Given the description of an element on the screen output the (x, y) to click on. 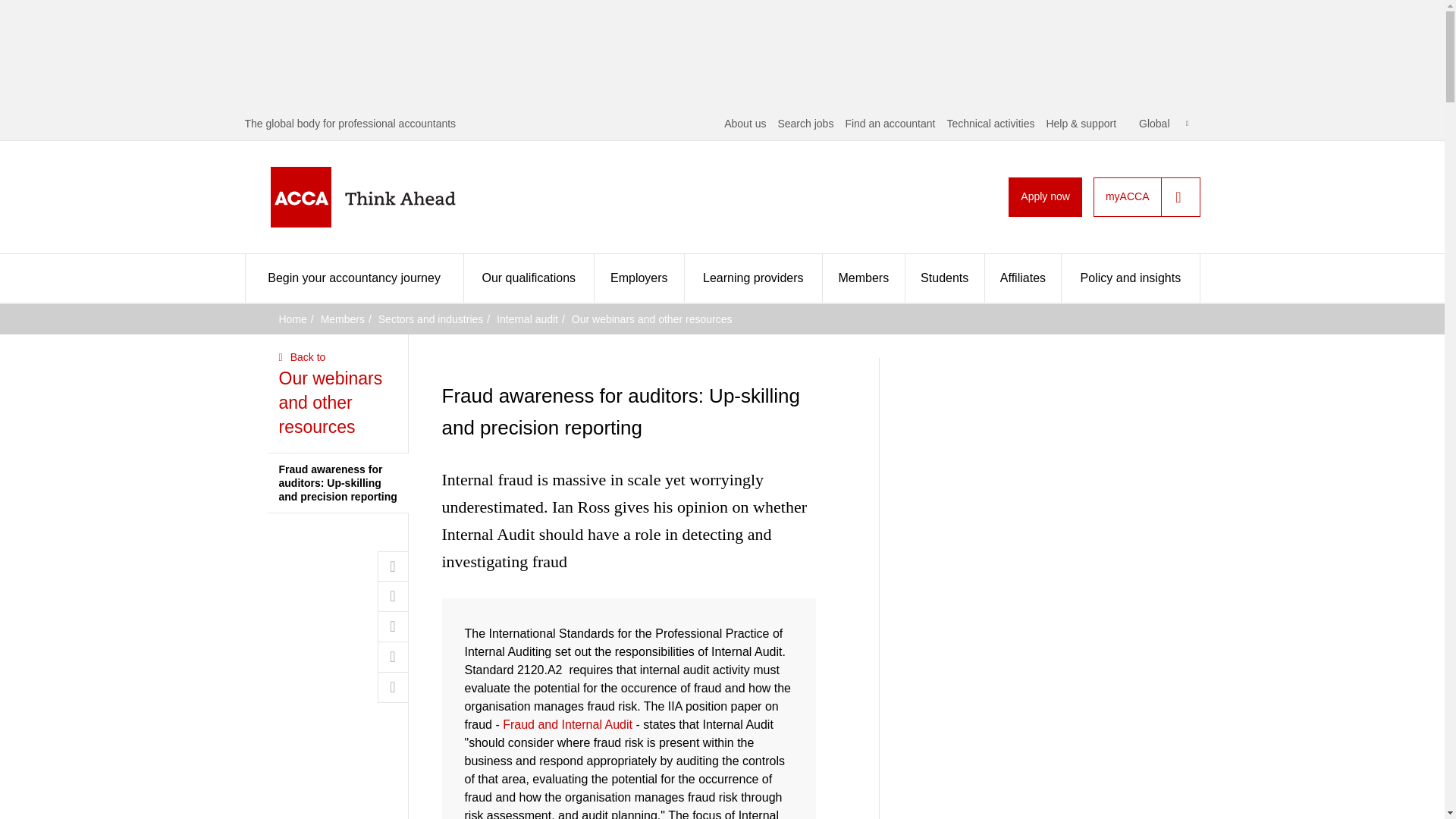
Home (387, 197)
Global (1162, 123)
Technical activities (989, 123)
Global (1162, 123)
Search jobs (804, 123)
Find an accountant (889, 123)
About us (744, 123)
